Given the description of an element on the screen output the (x, y) to click on. 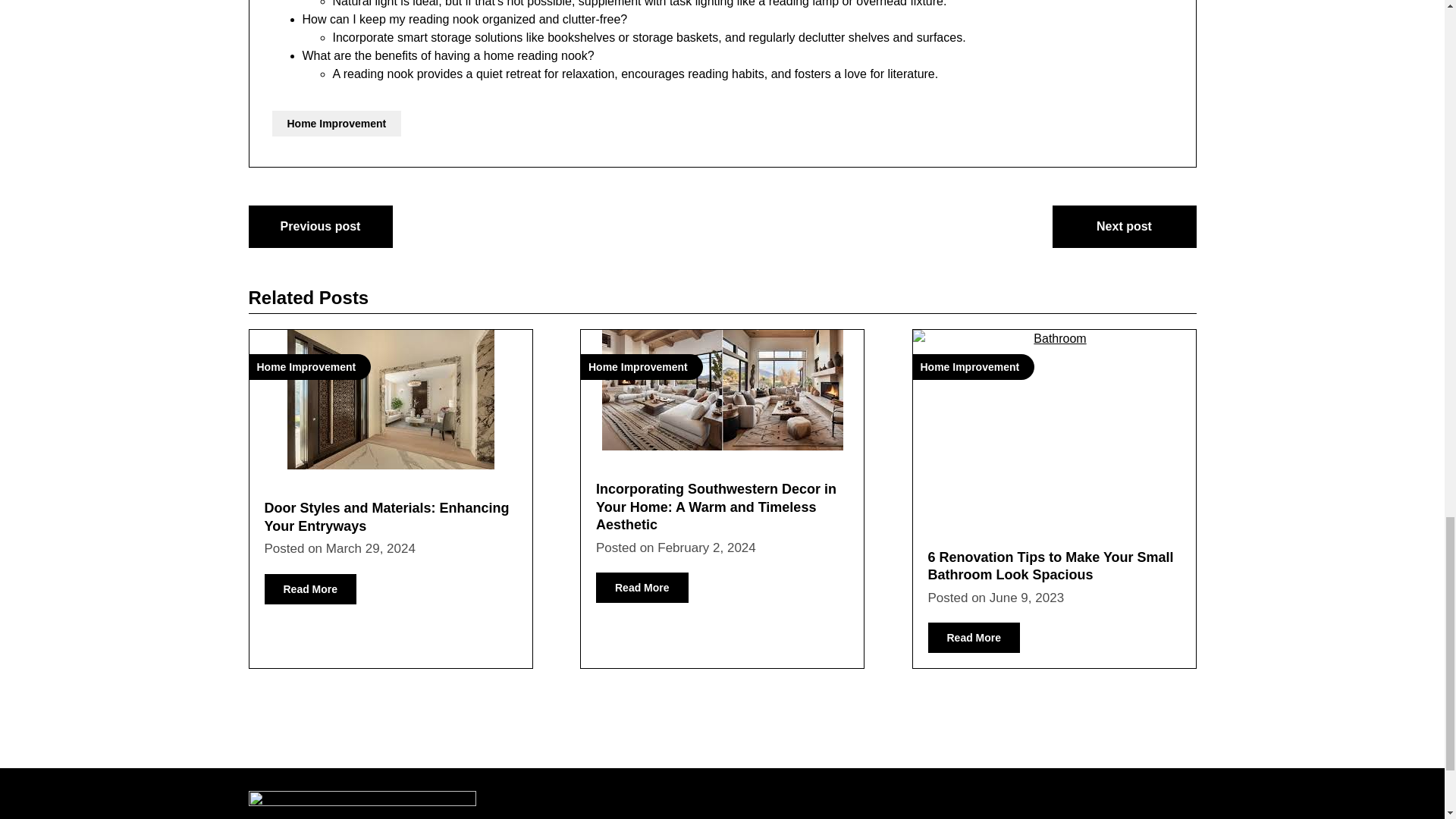
Previous post (320, 226)
Next post (1124, 226)
Home Improvement (389, 399)
Home Improvement (335, 123)
Door Styles and Materials: Enhancing Your Entryways (385, 516)
